Given the description of an element on the screen output the (x, y) to click on. 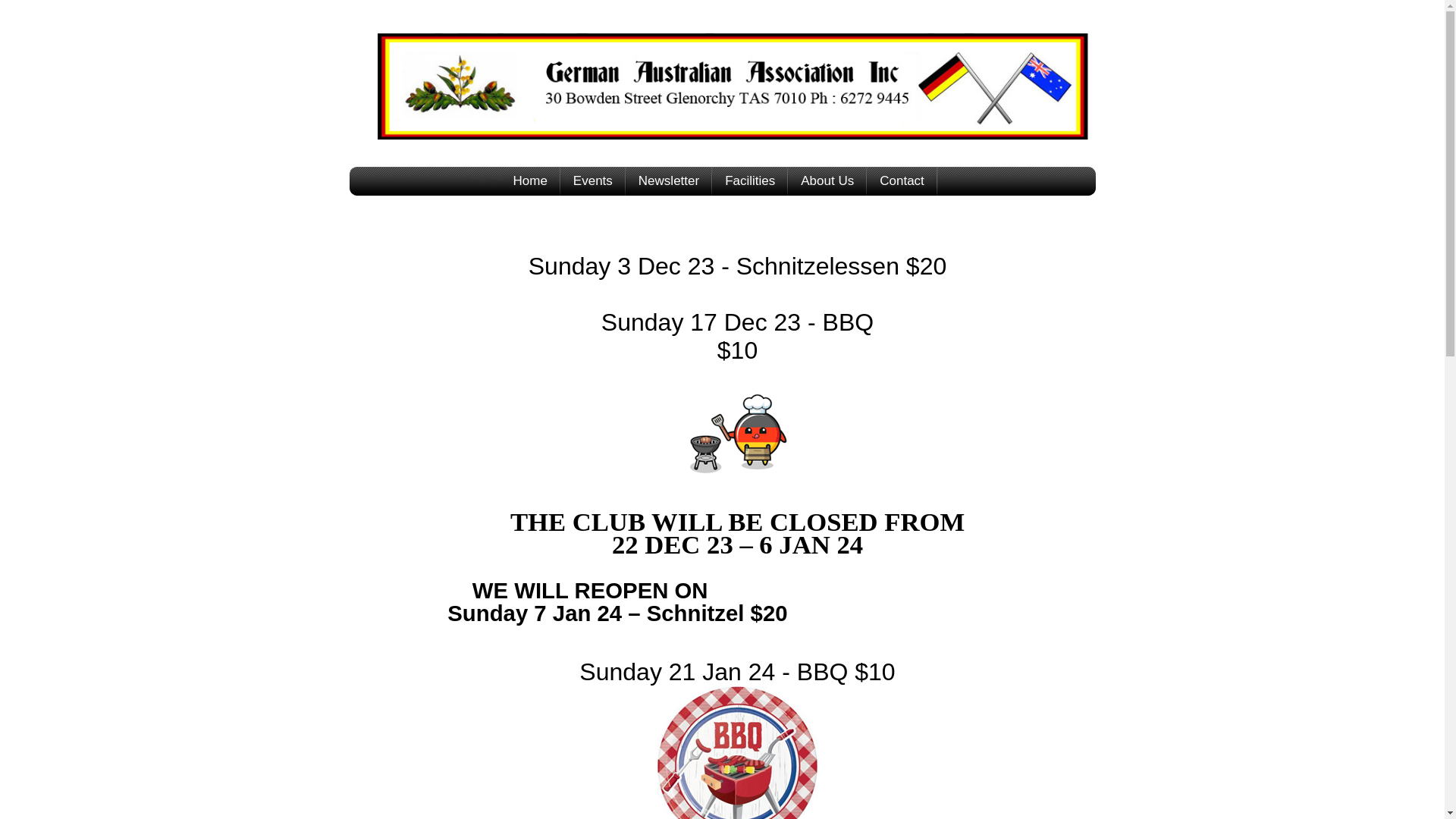
Home Element type: text (530, 180)
Facilities Element type: text (750, 180)
Contact Element type: text (902, 180)
About Us Element type: text (827, 180)
Events Element type: text (593, 180)
Newsletter Element type: text (669, 180)
